Given the description of an element on the screen output the (x, y) to click on. 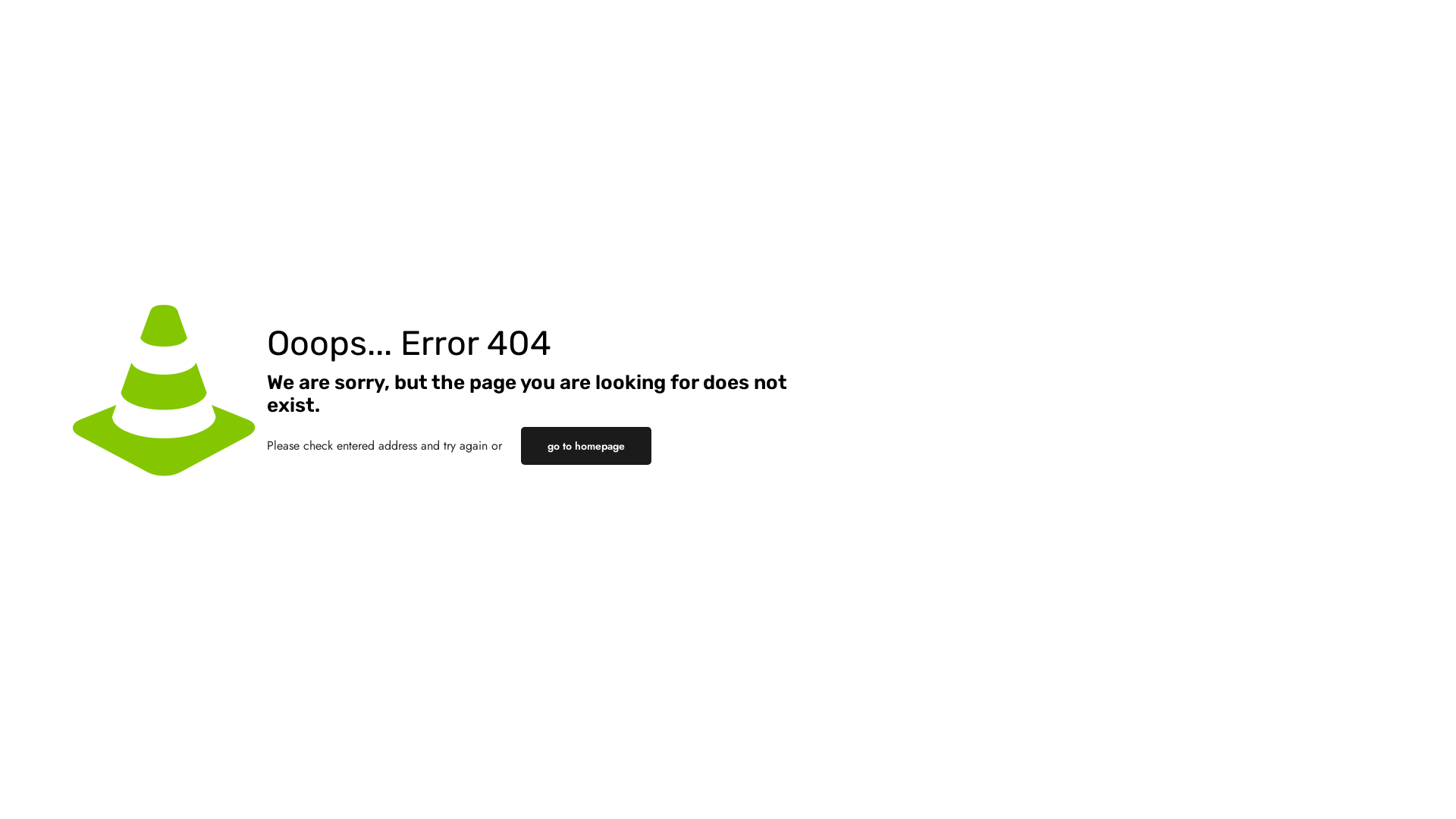
go to homepage Element type: text (585, 445)
